Given the description of an element on the screen output the (x, y) to click on. 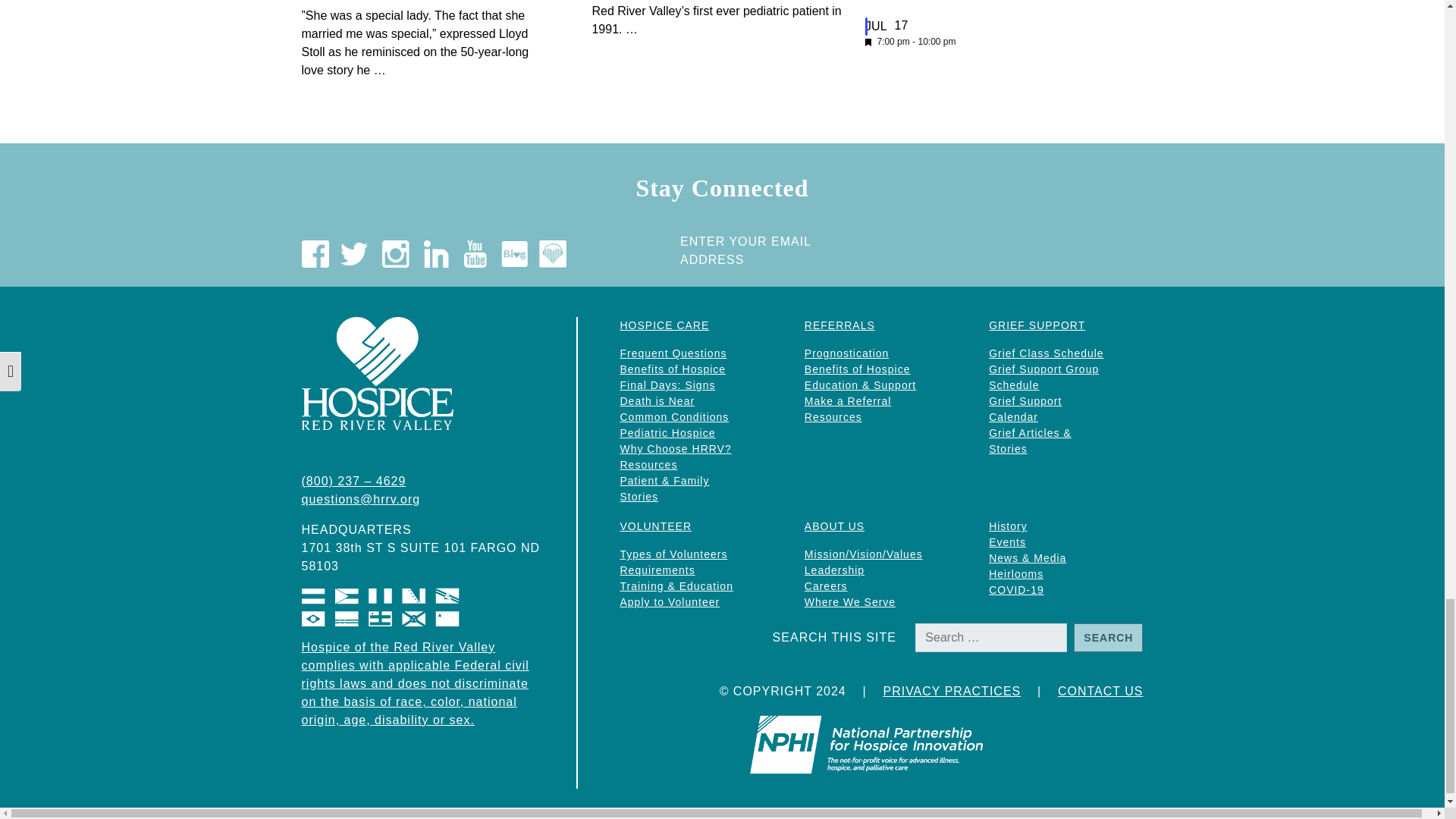
Featured (867, 42)
Featured (867, 41)
